Given the description of an element on the screen output the (x, y) to click on. 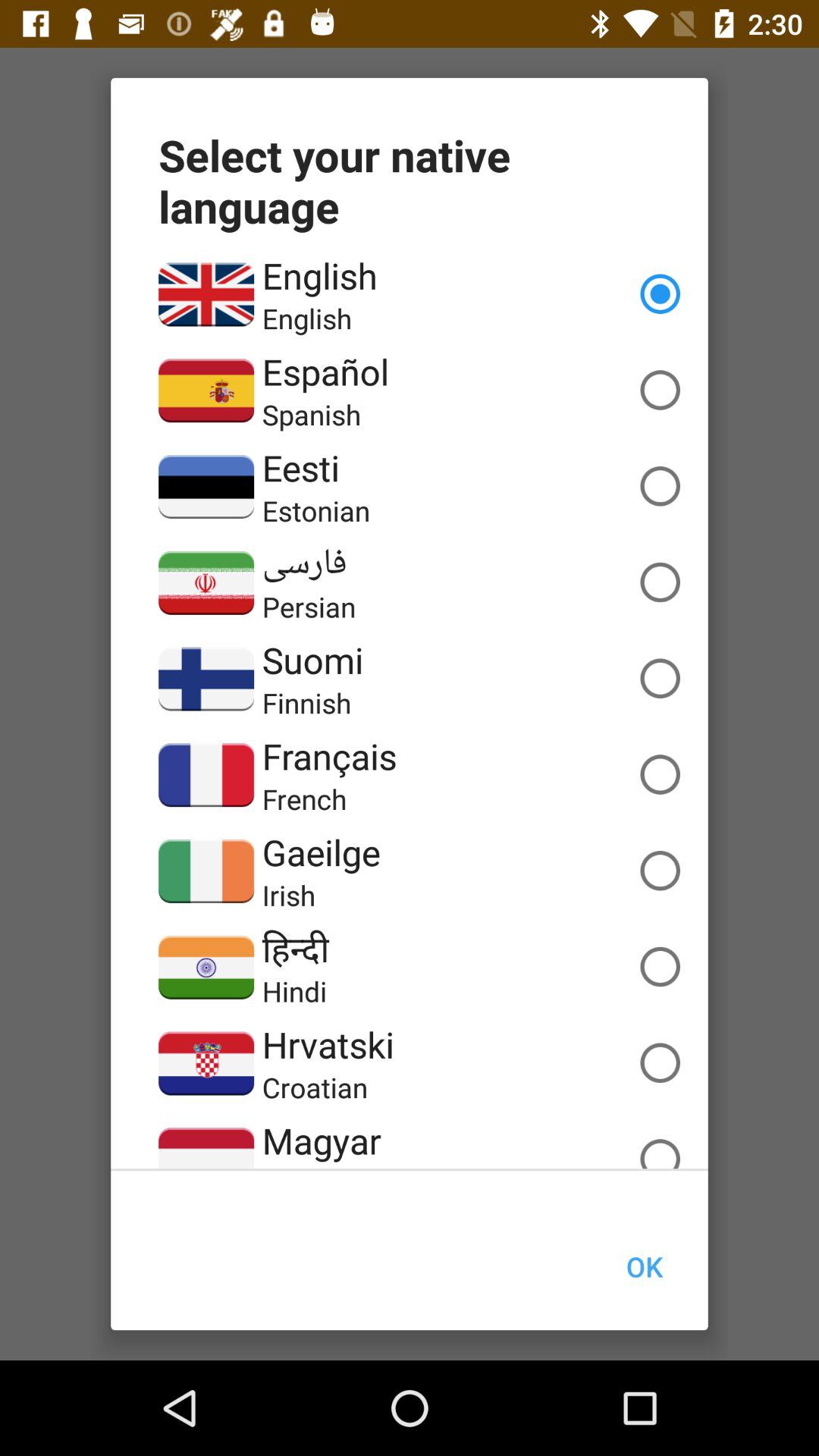
press the item below the gaeilge app (288, 894)
